Given the description of an element on the screen output the (x, y) to click on. 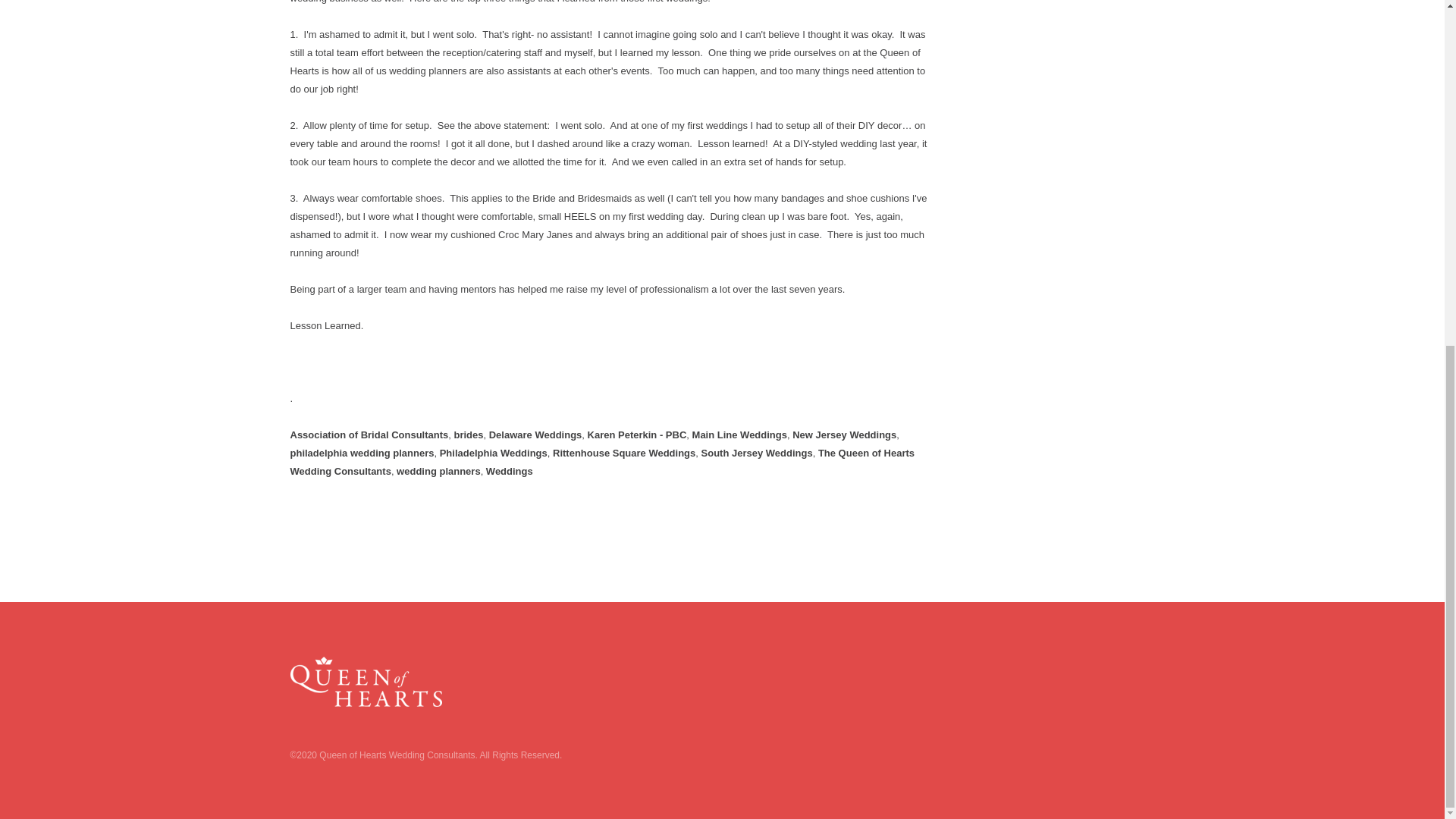
Rittenhouse Square Weddings (624, 452)
brides (467, 434)
Delaware Weddings (535, 434)
Main Line Weddings (740, 434)
The Queen of Hearts Wedding Consultants (601, 461)
Association of Bridal Consultants (368, 434)
New Jersey Weddings (844, 434)
philadelphia wedding planners (361, 452)
Philadelphia Weddings (493, 452)
Weddings (509, 471)
